Given the description of an element on the screen output the (x, y) to click on. 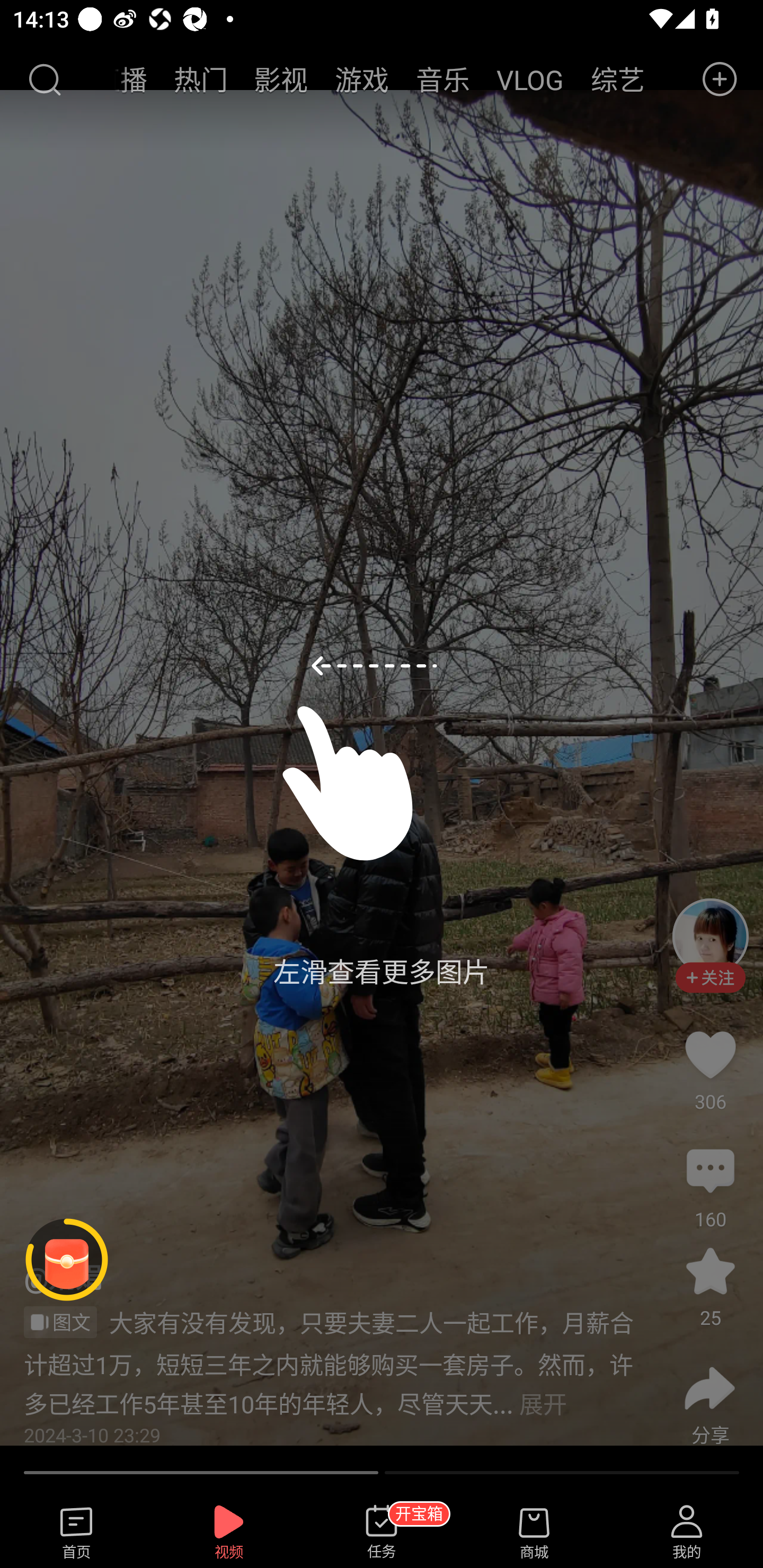
热门 (200, 79)
影视 (280, 79)
游戏 (361, 79)
音乐 (442, 79)
VLOG (529, 79)
综艺 (616, 79)
搜索 (44, 79)
发布 (720, 79)
头像 (710, 936)
加关注 (710, 986)
点赞306 306 (710, 1054)
评论160 评论 160 (710, 1171)
阅读赚金币 (66, 1259)
收藏 25 (710, 1279)
分享 (710, 1388)
第1页，总共2页 (200, 1472)
第2页，总共2页 (561, 1472)
首页 (76, 1532)
视频 (228, 1532)
任务 开宝箱 (381, 1532)
商城 (533, 1532)
我的 (686, 1532)
